Given the description of an element on the screen output the (x, y) to click on. 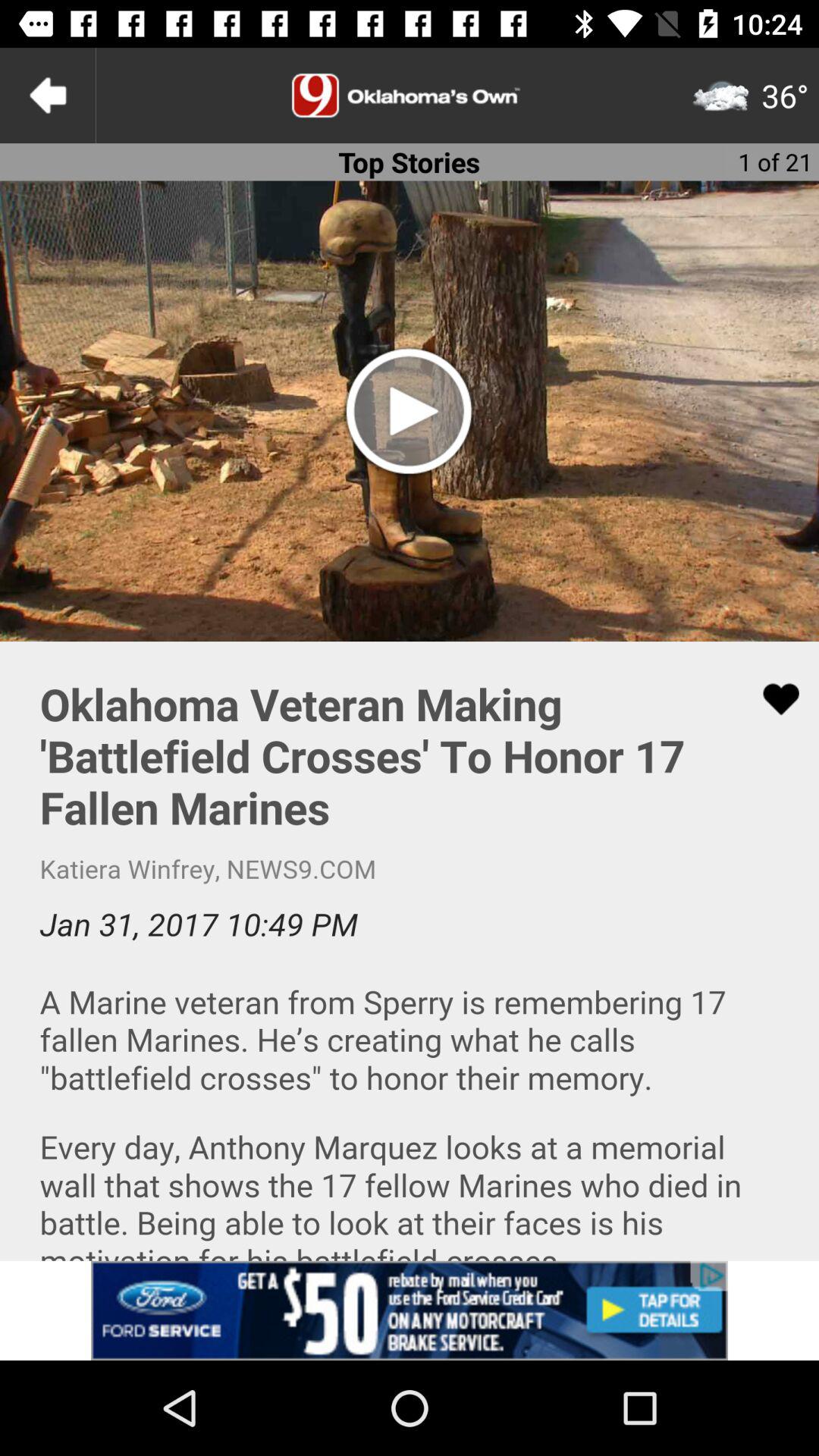
click on the banner (409, 1310)
